Given the description of an element on the screen output the (x, y) to click on. 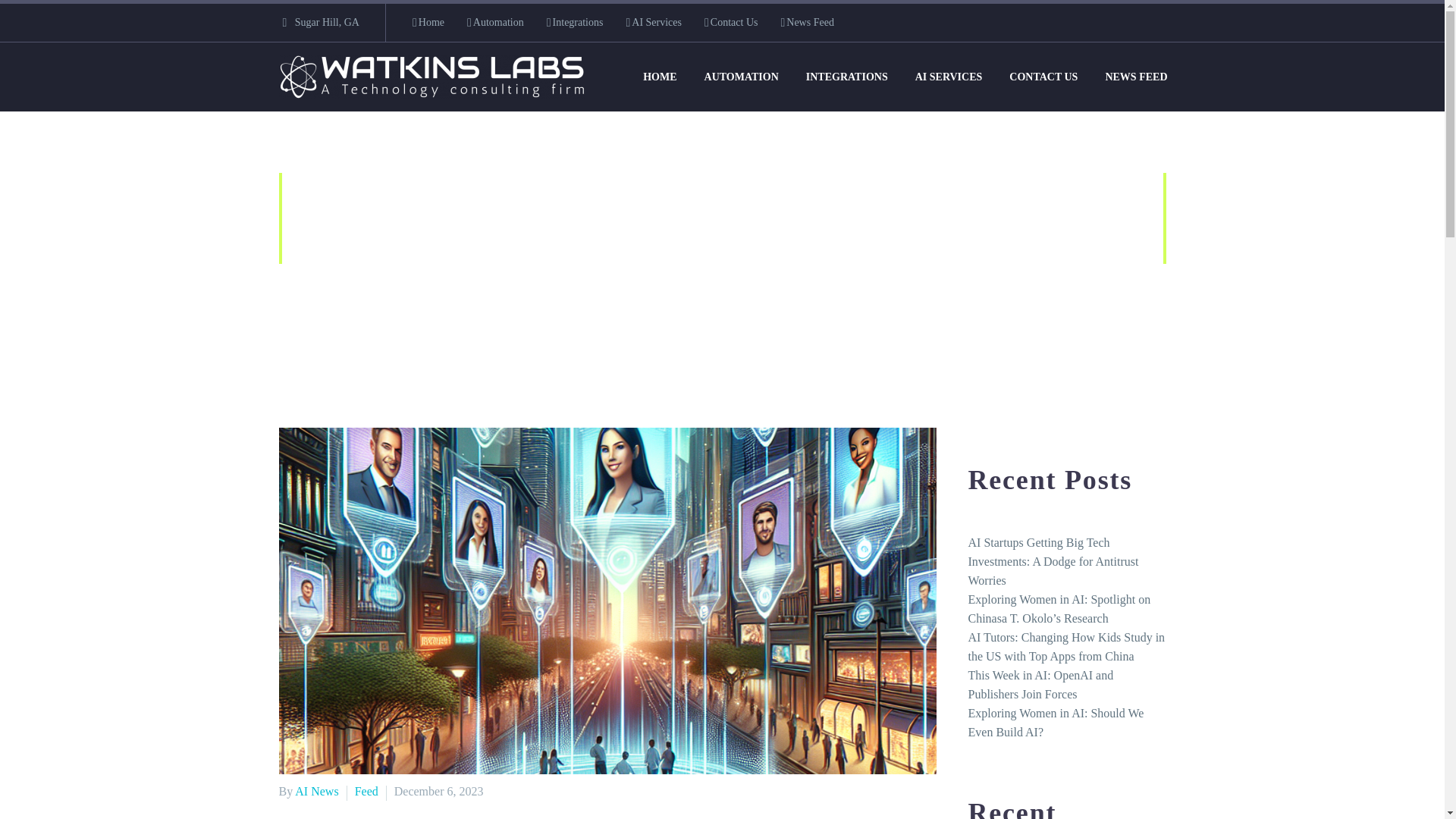
Feed (590, 304)
AI SERVICES (949, 76)
Integrations (575, 22)
View all posts in Feed (366, 790)
AUTOMATION (741, 76)
Home (534, 304)
Feed (366, 790)
Contact Us (730, 22)
INTEGRATIONS (846, 76)
CONTACT US (1043, 76)
Automation (495, 22)
AI News (316, 790)
Home (428, 22)
AI Services (653, 22)
NEWS FEED (1135, 76)
